Given the description of an element on the screen output the (x, y) to click on. 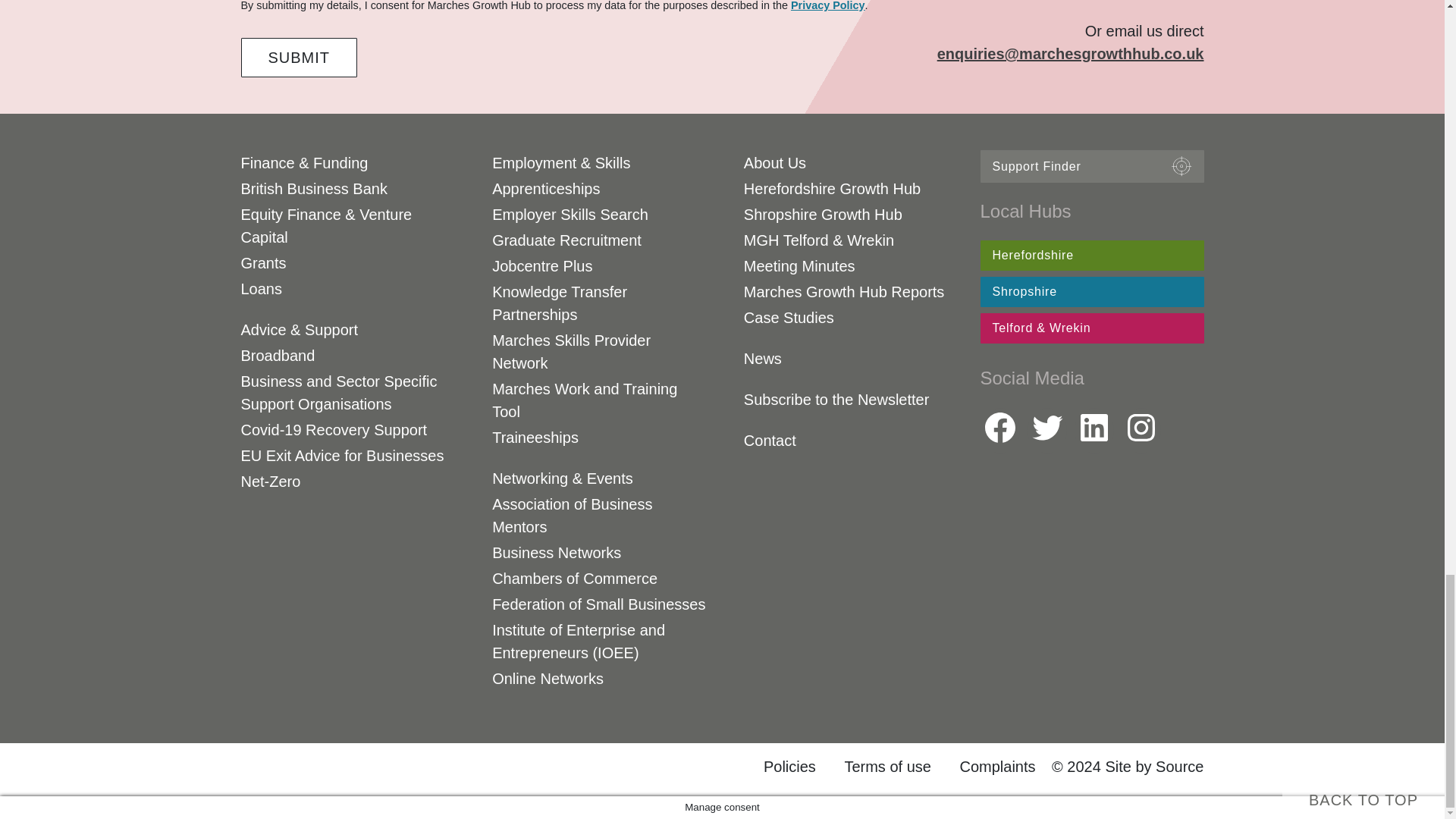
Submit (299, 56)
